Given the description of an element on the screen output the (x, y) to click on. 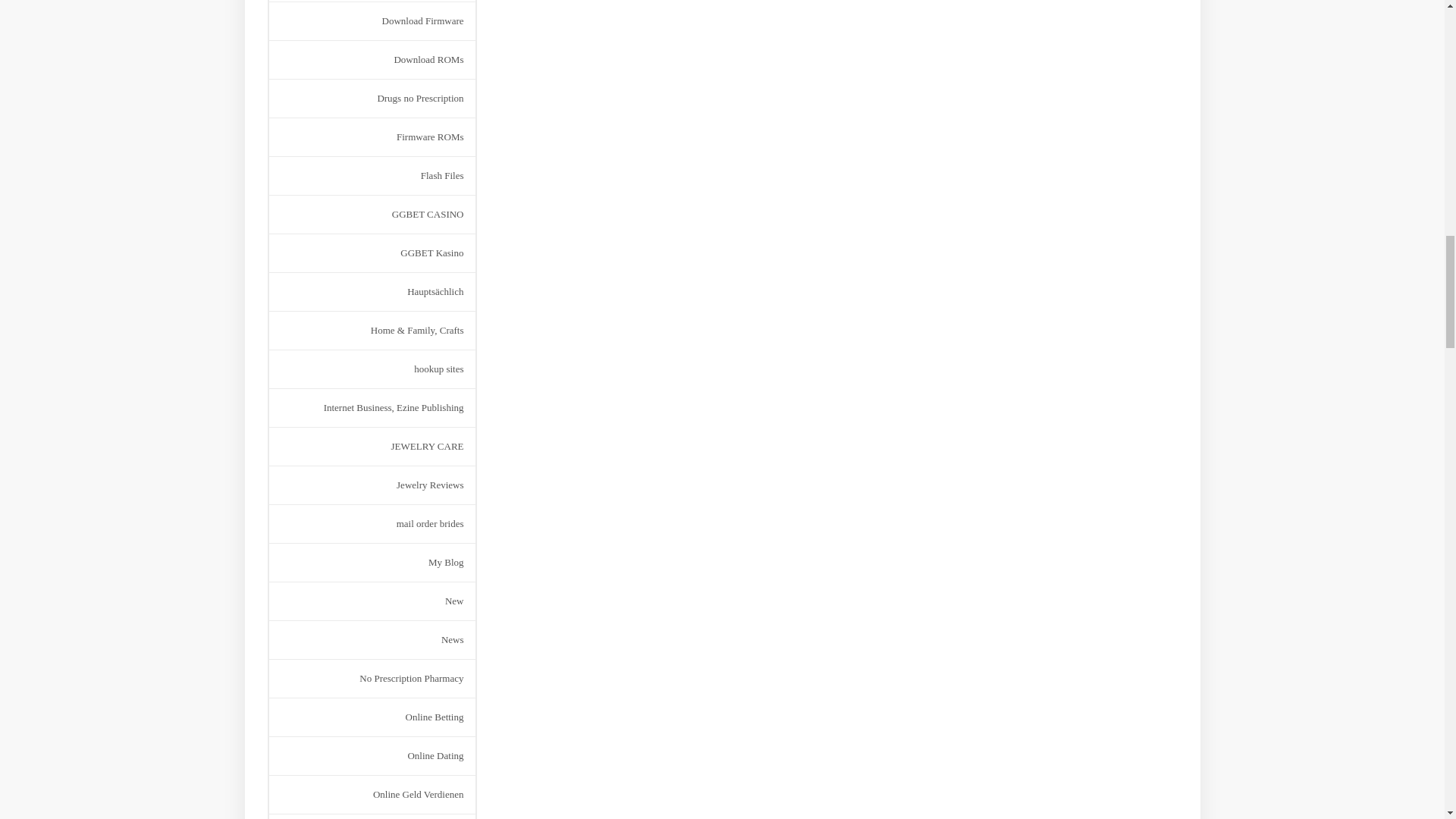
Internet Business, Ezine Publishing (393, 407)
